Given the description of an element on the screen output the (x, y) to click on. 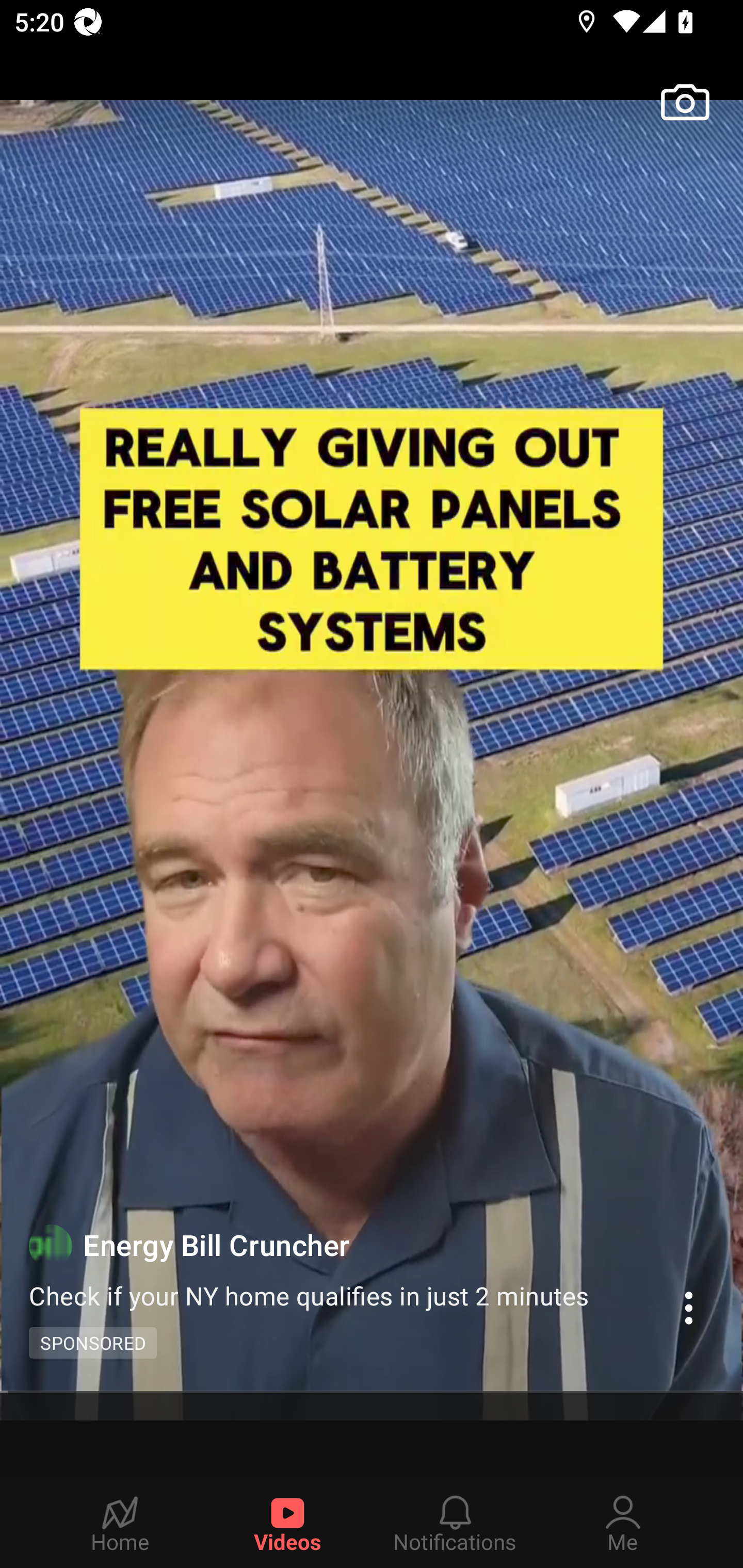
Energy Bill Cruncher (344, 1243)
Check if your NY home qualifies in just 2 minutes (316, 1294)
Home (119, 1522)
Notifications (455, 1522)
Me (622, 1522)
